Given the description of an element on the screen output the (x, y) to click on. 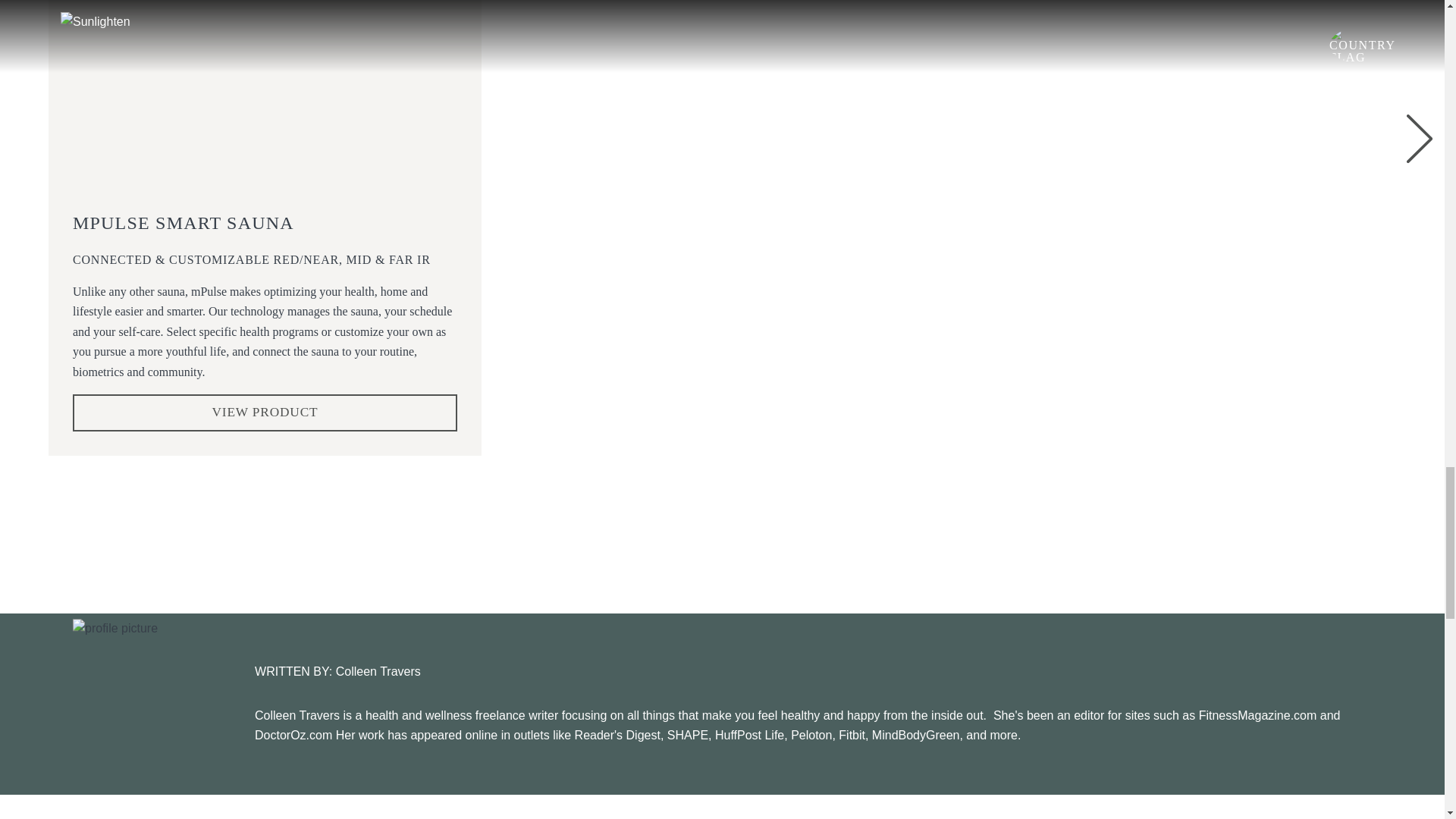
VIEW PRODUCT (264, 412)
DoctorOz.com (292, 735)
